Given the description of an element on the screen output the (x, y) to click on. 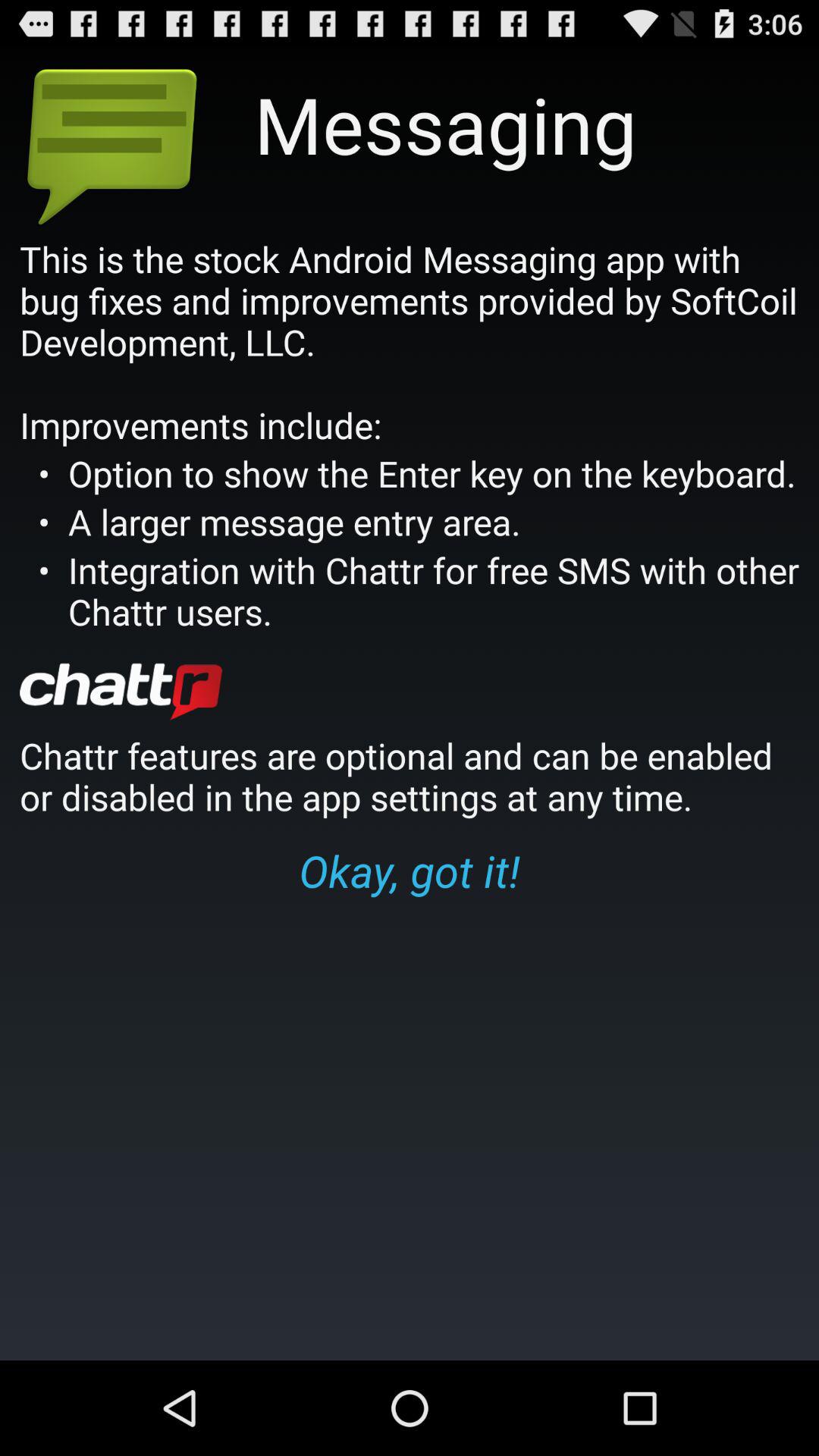
select okay, got it! icon (409, 870)
